Given the description of an element on the screen output the (x, y) to click on. 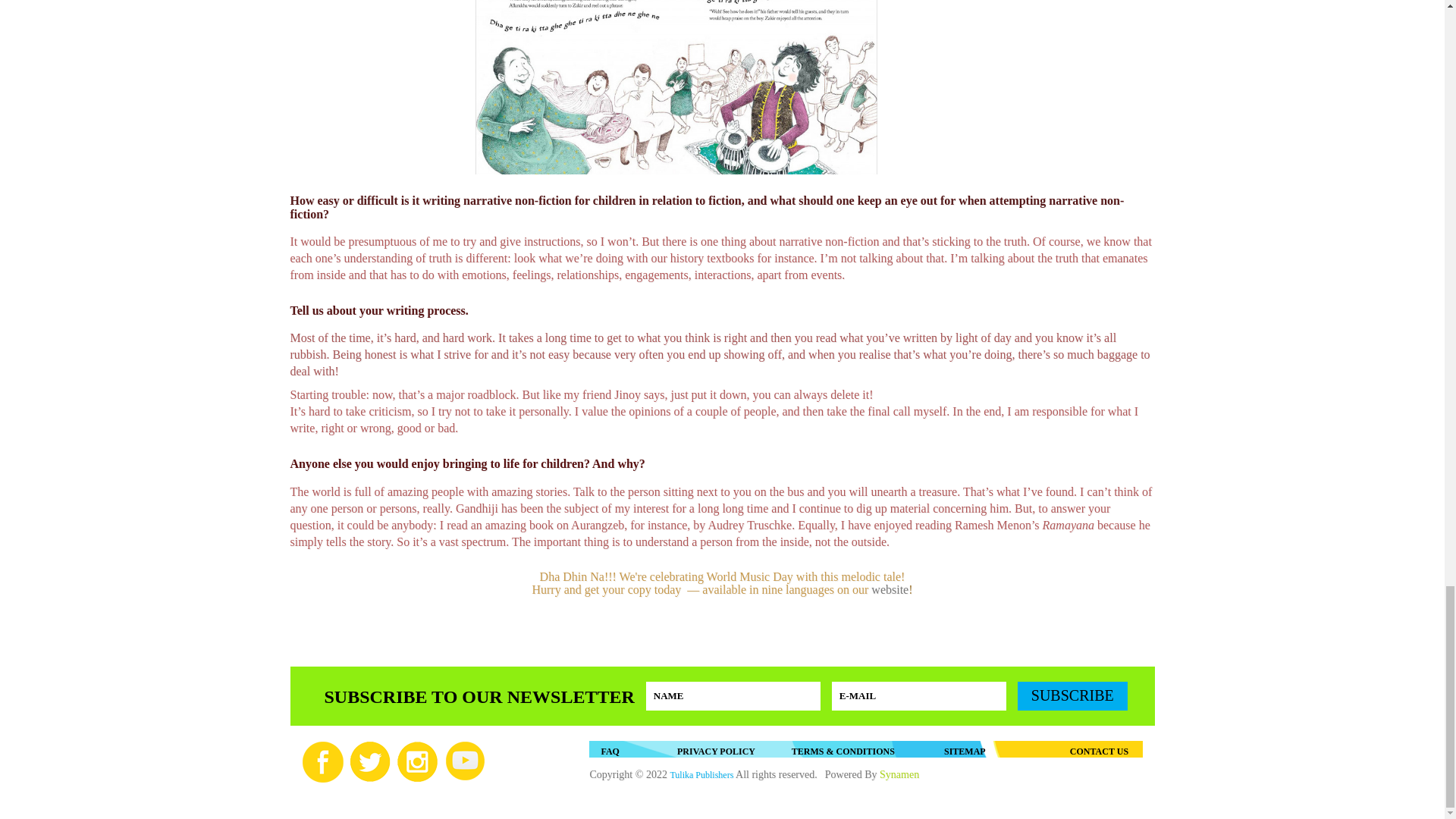
NAME (733, 695)
E-MAIL (918, 695)
Powered and managed by Synamen (898, 774)
